Given the description of an element on the screen output the (x, y) to click on. 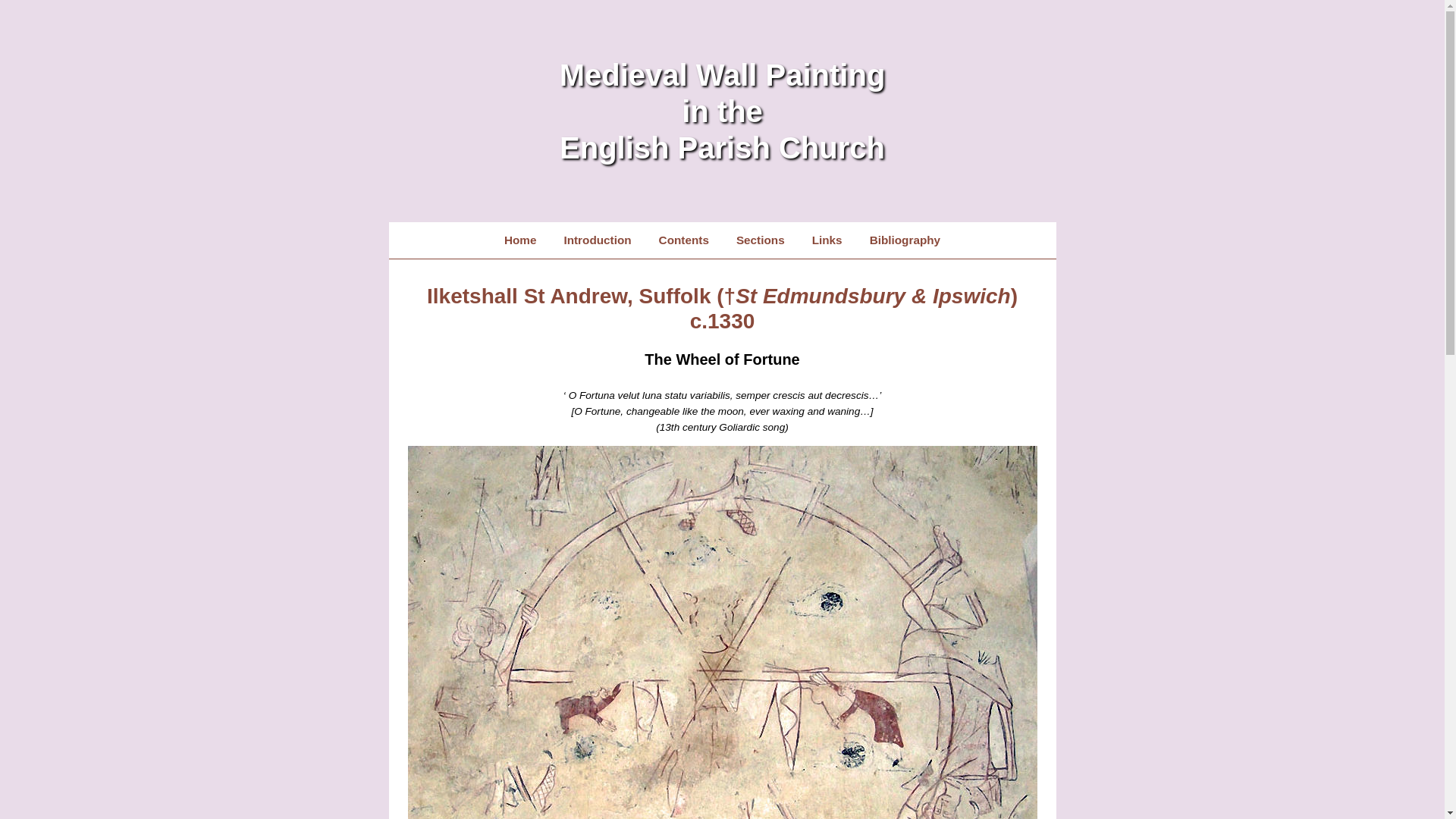
Introduction (597, 239)
Home (520, 239)
